Given the description of an element on the screen output the (x, y) to click on. 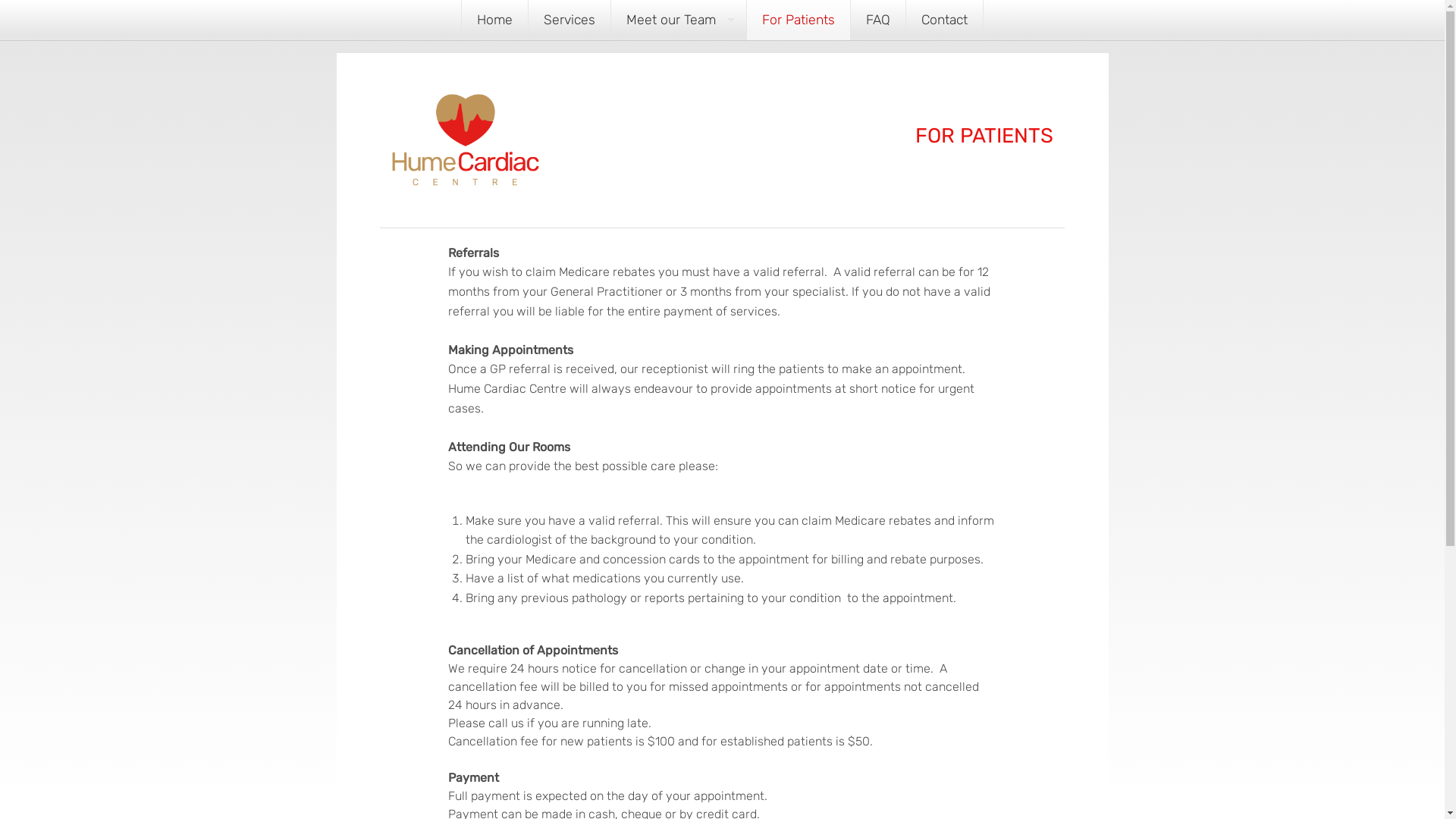
Services Element type: text (569, 20)
Support Staff Element type: text (678, 91)
Meet our Team Element type: text (678, 20)
Home Element type: text (494, 20)
FAQ Element type: text (877, 20)
Contact Element type: text (944, 20)
For Patients Element type: text (798, 20)
Our Cardiologists Element type: text (678, 57)
